Given the description of an element on the screen output the (x, y) to click on. 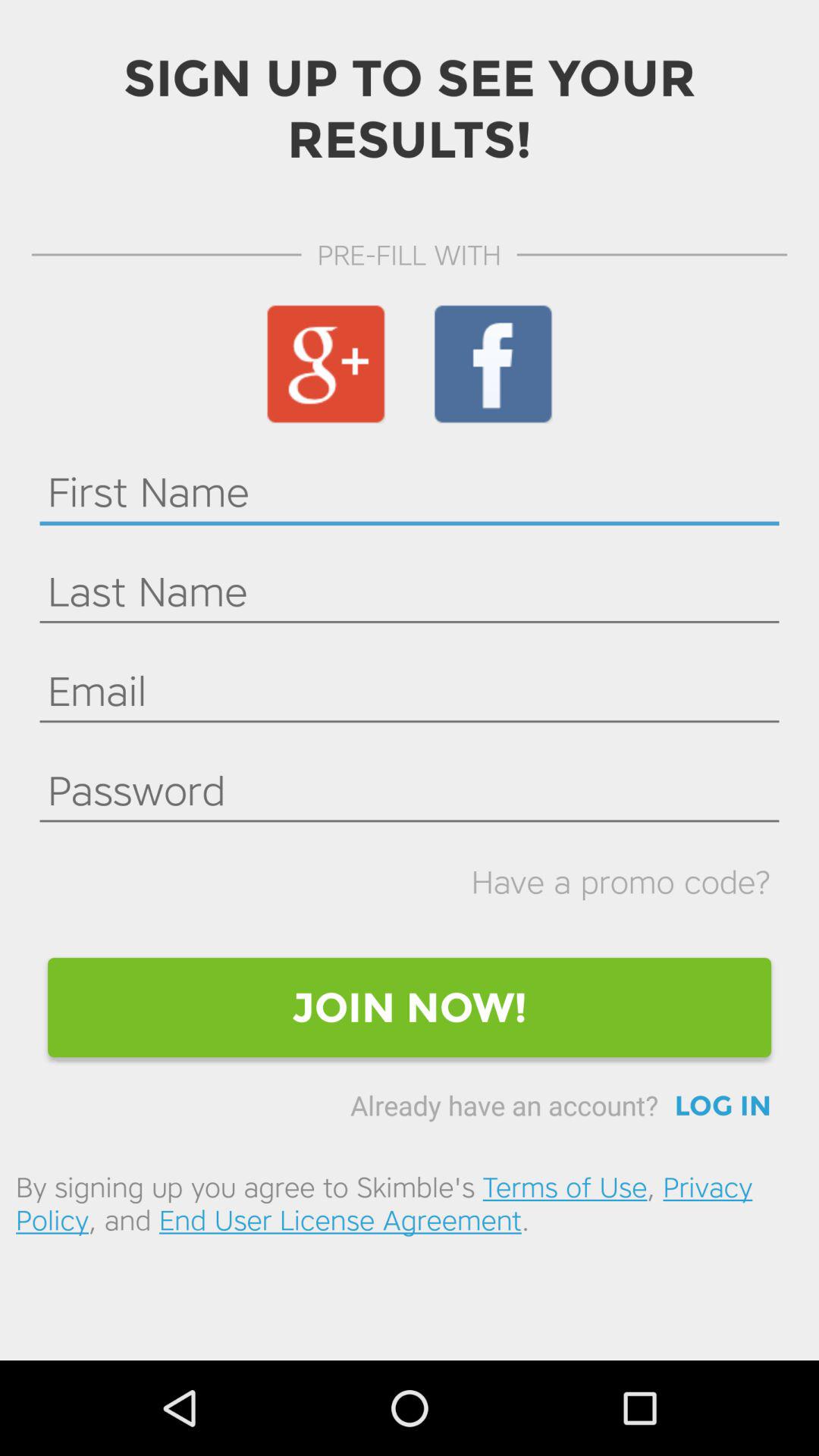
tap the icon below join now! icon (722, 1105)
